Given the description of an element on the screen output the (x, y) to click on. 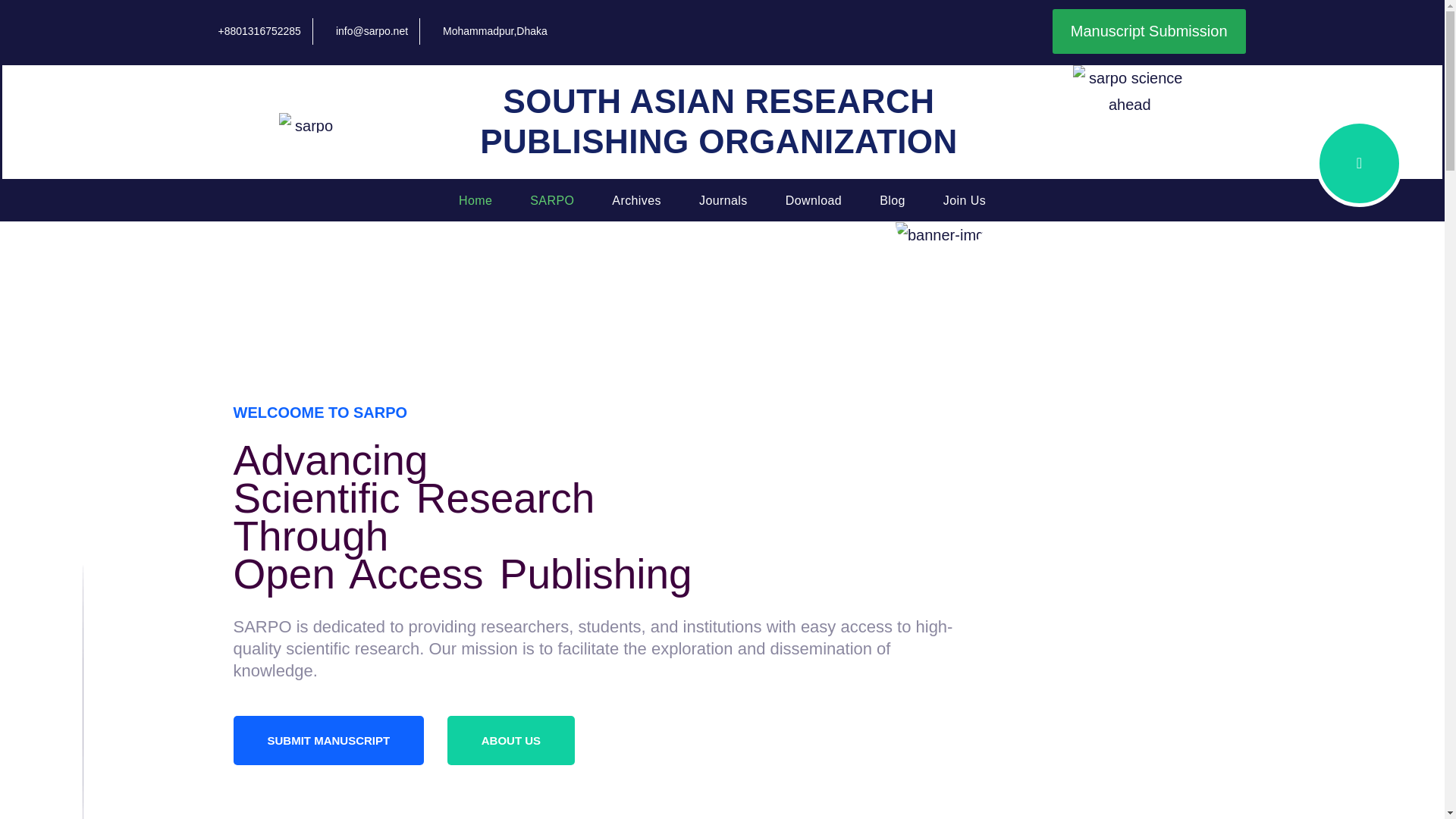
SOUTH ASIAN RESEARCH PUBLISHING ORGANIZATION (719, 120)
Manuscript Submission (1149, 31)
Archives (636, 201)
Download (813, 201)
Home (475, 201)
Journals (723, 201)
HOME 1 (939, 234)
SARPO (551, 201)
